Given the description of an element on the screen output the (x, y) to click on. 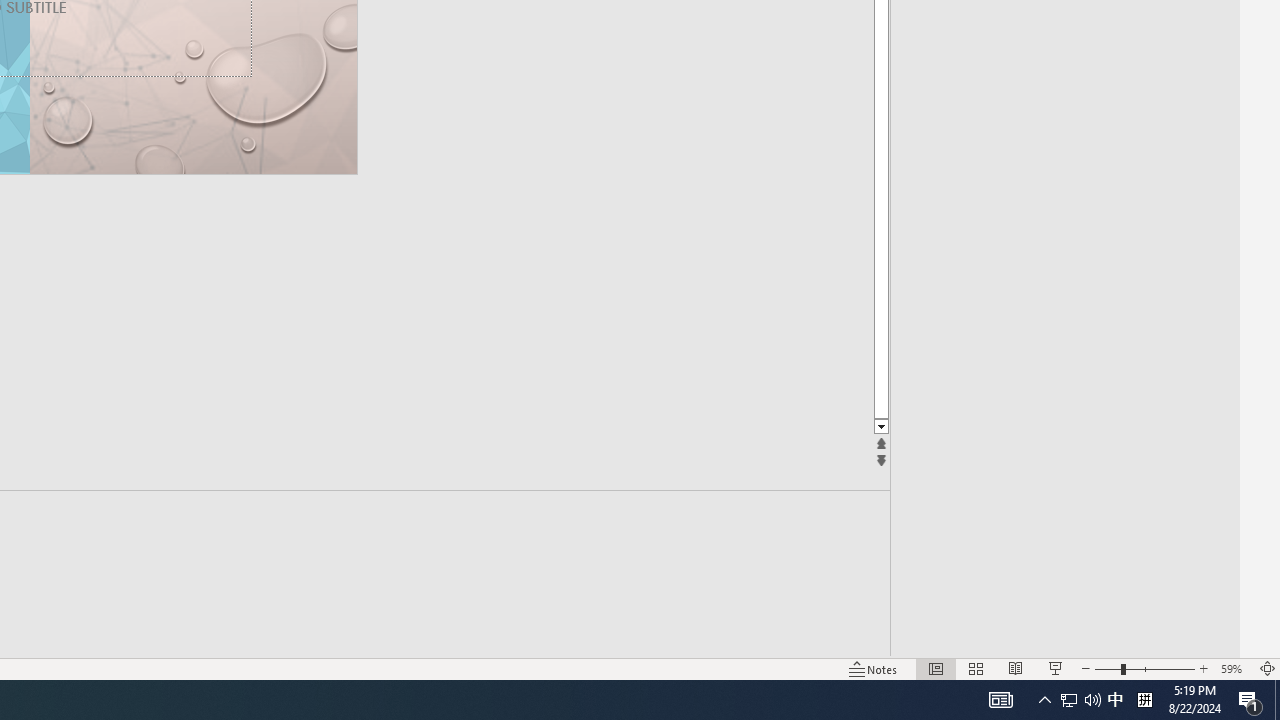
Zoom 59% (1234, 668)
